Given the description of an element on the screen output the (x, y) to click on. 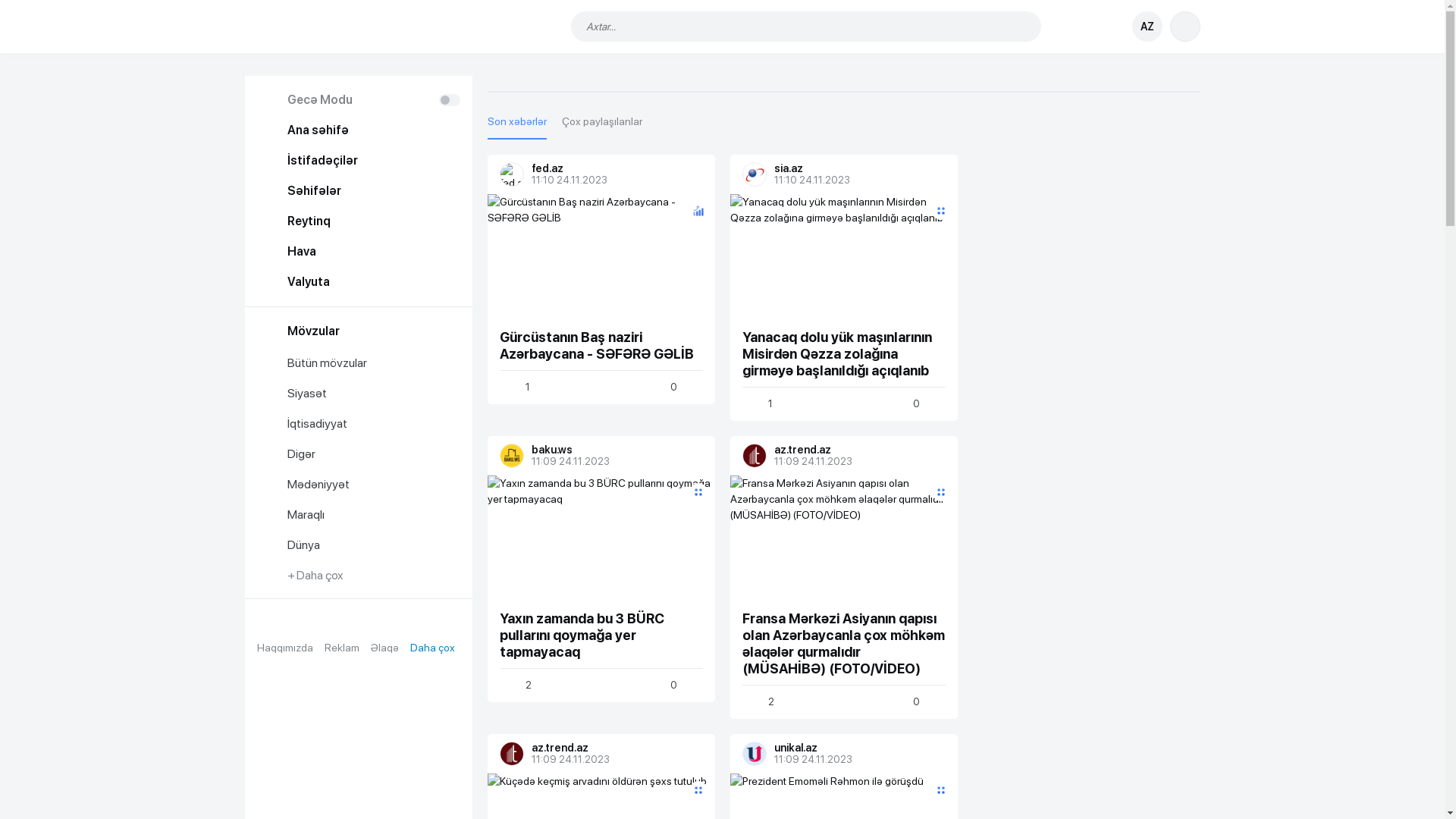
sia.az Element type: hover (754, 174)
fed.az Element type: text (607, 168)
Valyuta Element type: text (357, 282)
unikal.az Element type: text (849, 747)
az.trend.az Element type: text (607, 747)
Reklam Element type: text (341, 647)
Hava Element type: text (357, 251)
sia.az Element type: text (849, 168)
fed.az Element type: hover (511, 174)
az.trend.az Element type: hover (511, 753)
unikal.az Element type: hover (754, 753)
positive Element type: hover (940, 233)
positive Element type: hover (697, 233)
az.trend.az Element type: text (849, 449)
baku.ws Element type: text (607, 449)
positive Element type: hover (697, 514)
Reytinq Element type: text (357, 221)
baku.ws Element type: hover (511, 455)
az.trend.az Element type: hover (754, 455)
